Given the description of an element on the screen output the (x, y) to click on. 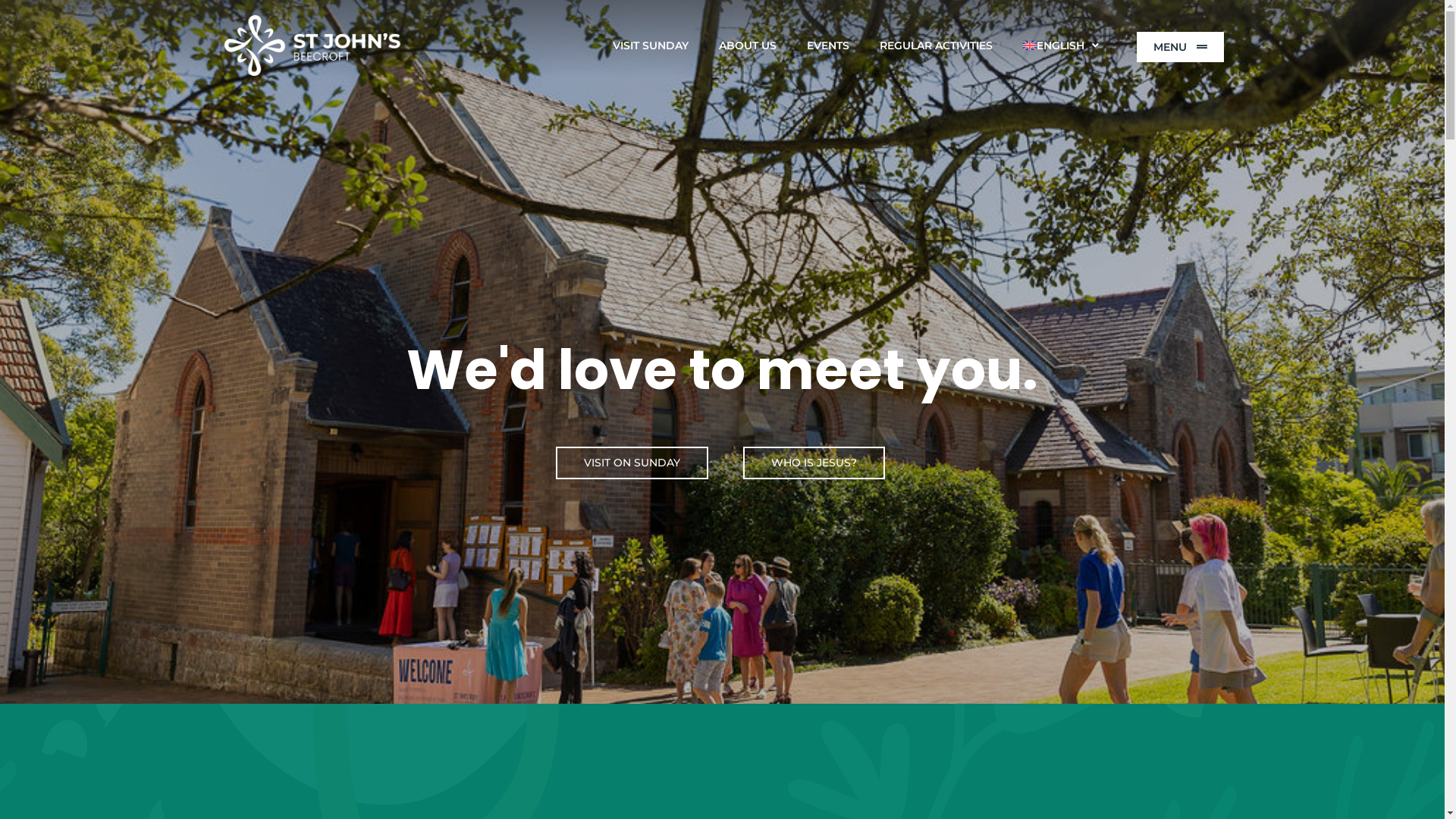
VISIT ON SUNDAY Element type: text (631, 462)
VISIT SUNDAY Element type: text (650, 45)
WHO IS JESUS? Element type: text (813, 462)
EVENTS Element type: text (827, 45)
REGULAR ACTIVITIES Element type: text (935, 45)
ABOUT US Element type: text (747, 45)
ENGLISH Element type: text (1060, 45)
MENU Element type: text (1179, 46)
